Given the description of an element on the screen output the (x, y) to click on. 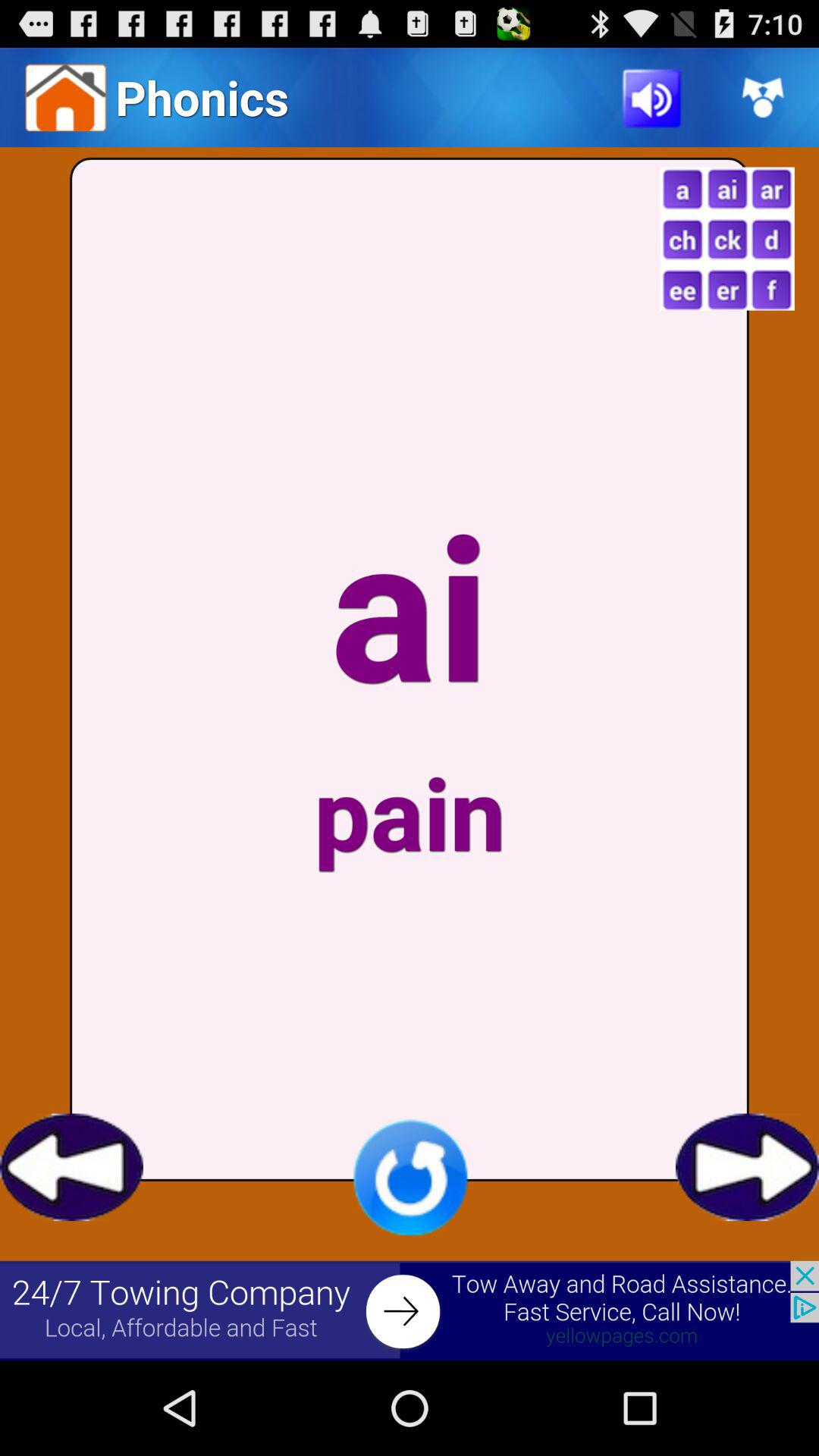
advertisement (409, 1310)
